Given the description of an element on the screen output the (x, y) to click on. 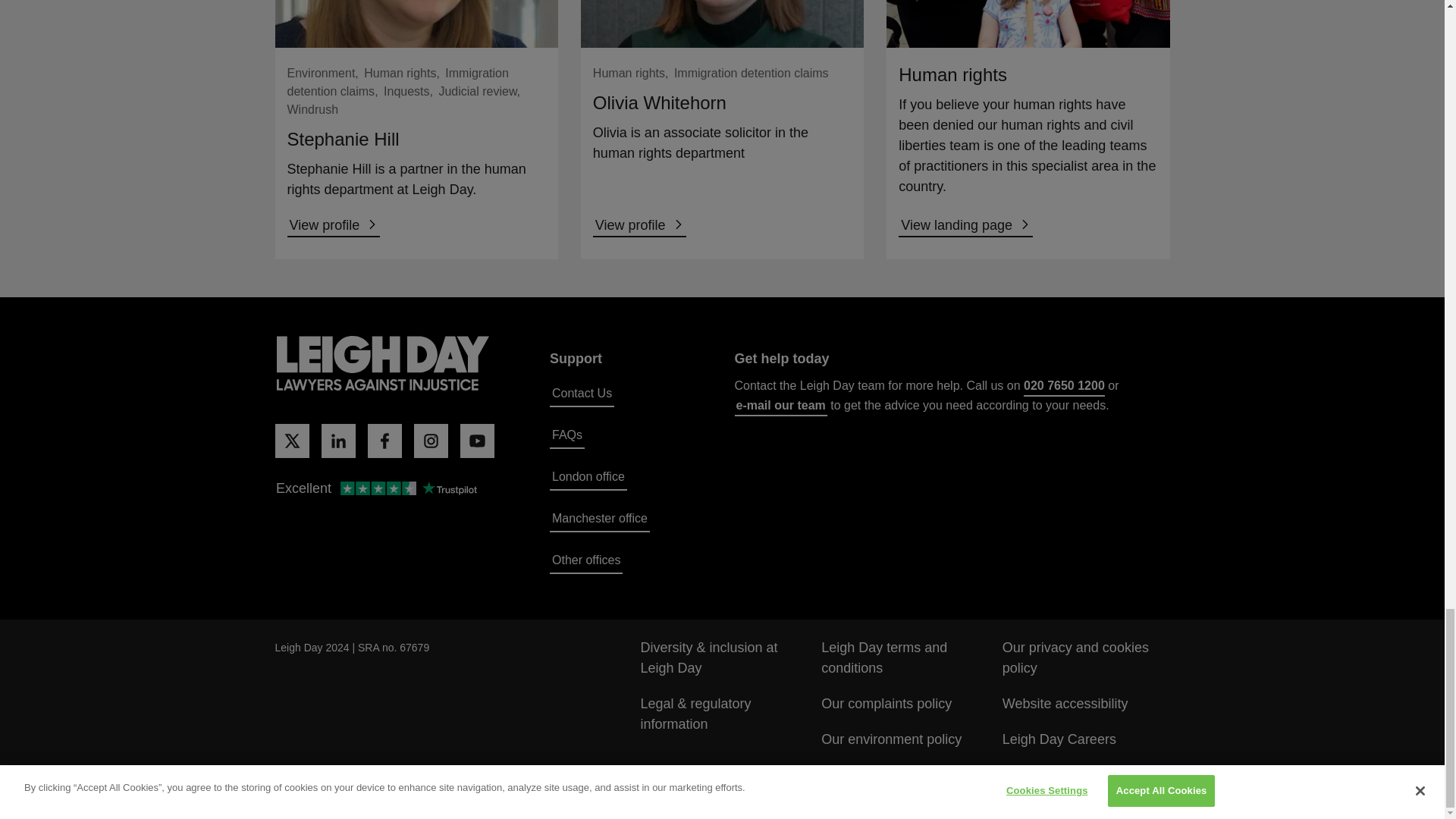
View Olivia Whitehorn (638, 226)
View Stephanie Hill (333, 226)
Customer reviews powered by Trustpilot (375, 489)
View Human rights (965, 226)
